Given the description of an element on the screen output the (x, y) to click on. 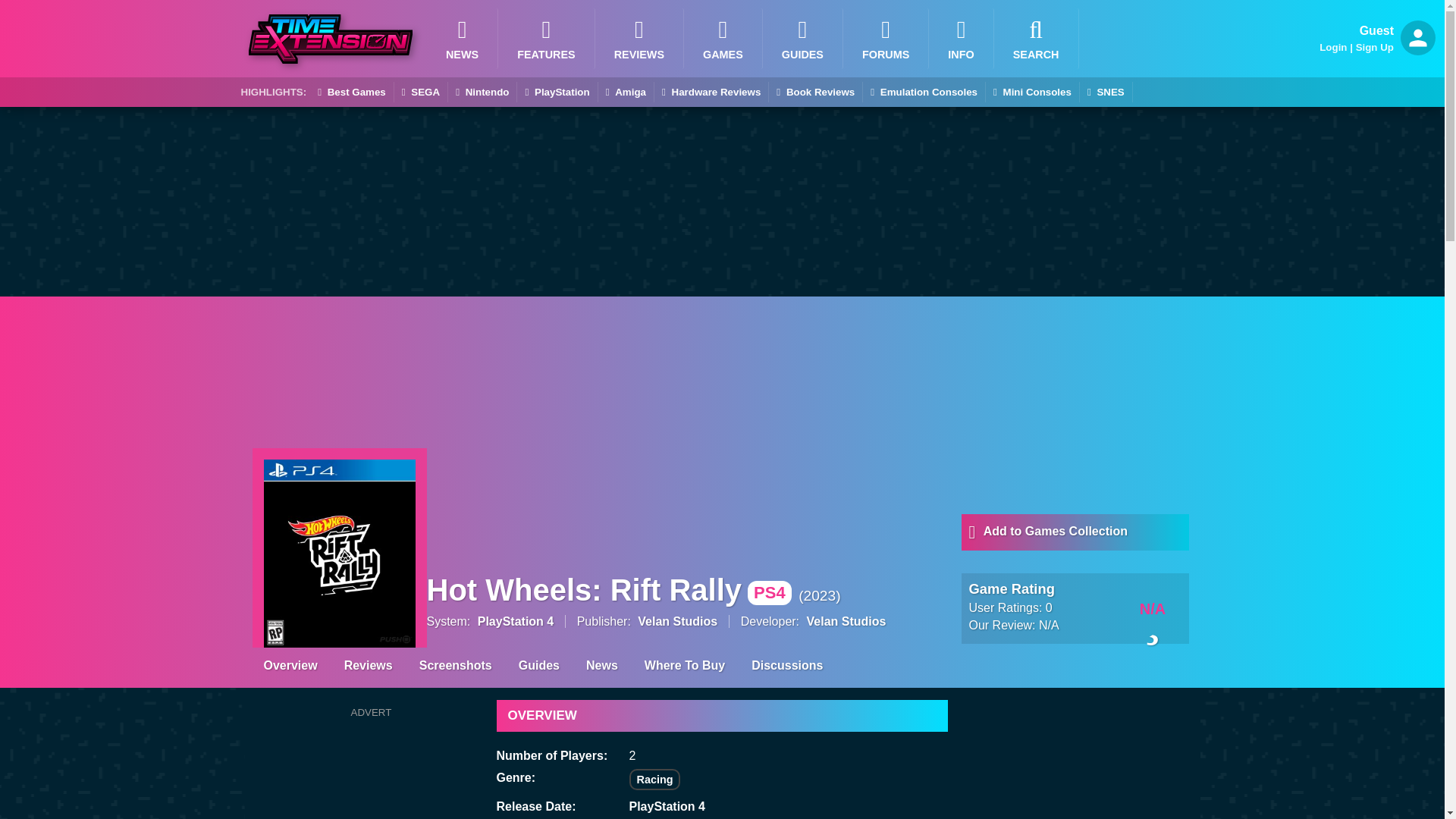
Amiga (625, 91)
Hardware Reviews (710, 91)
Mini Consoles (1031, 91)
NEWS (461, 38)
Time Extension (330, 38)
FEATURES (546, 38)
Home (960, 38)
The average score from our readers is 0 (1152, 606)
SEGA (420, 91)
PlayStation (556, 91)
Login (1332, 47)
Time Extension (330, 38)
SNES (1106, 91)
Best Games (351, 91)
Sign Up (1374, 47)
